Given the description of an element on the screen output the (x, y) to click on. 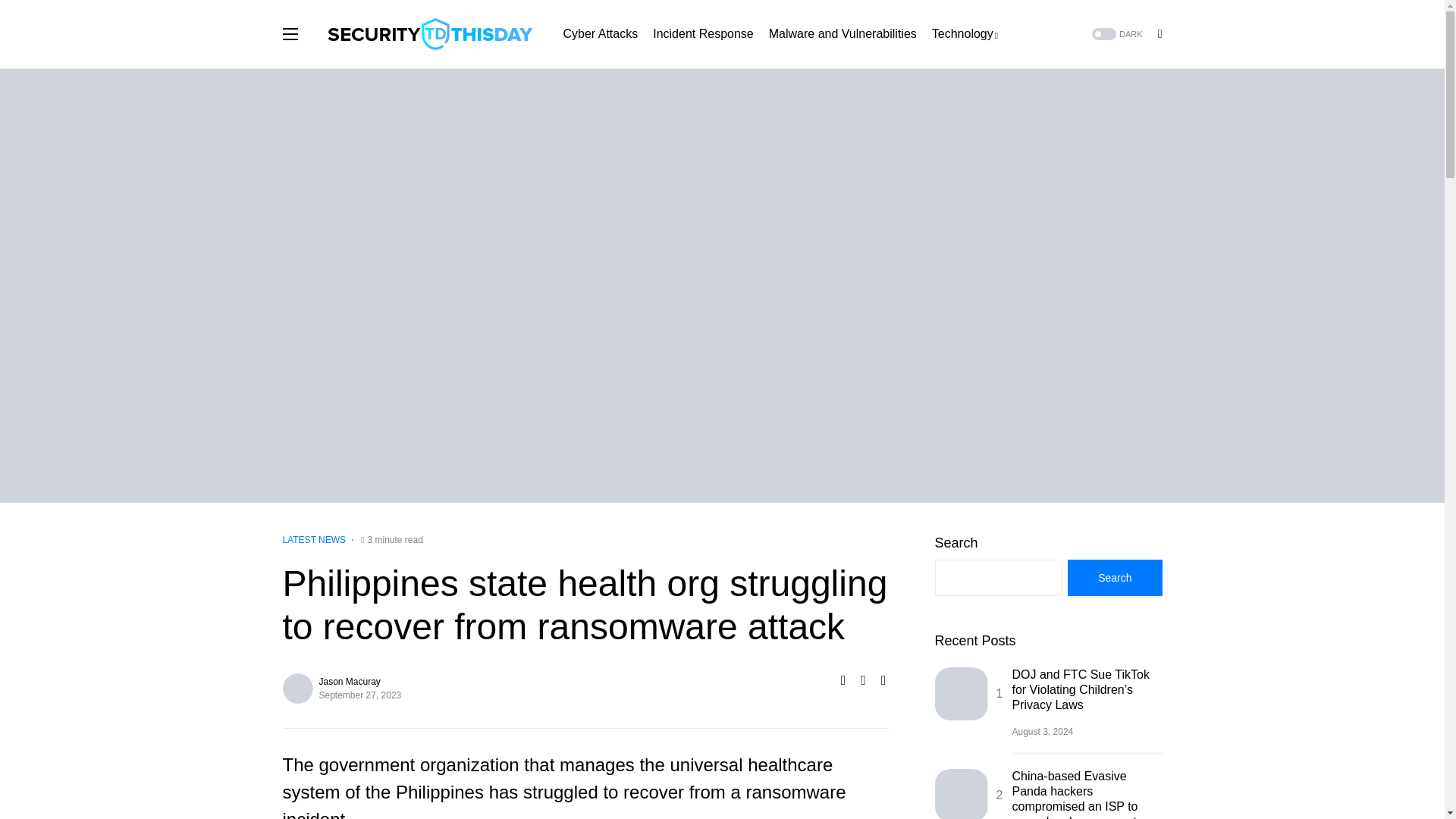
Technology (964, 33)
Malware and Vulnerabilities (842, 33)
Incident Response (703, 33)
Cyber Attacks (599, 33)
